Given the description of an element on the screen output the (x, y) to click on. 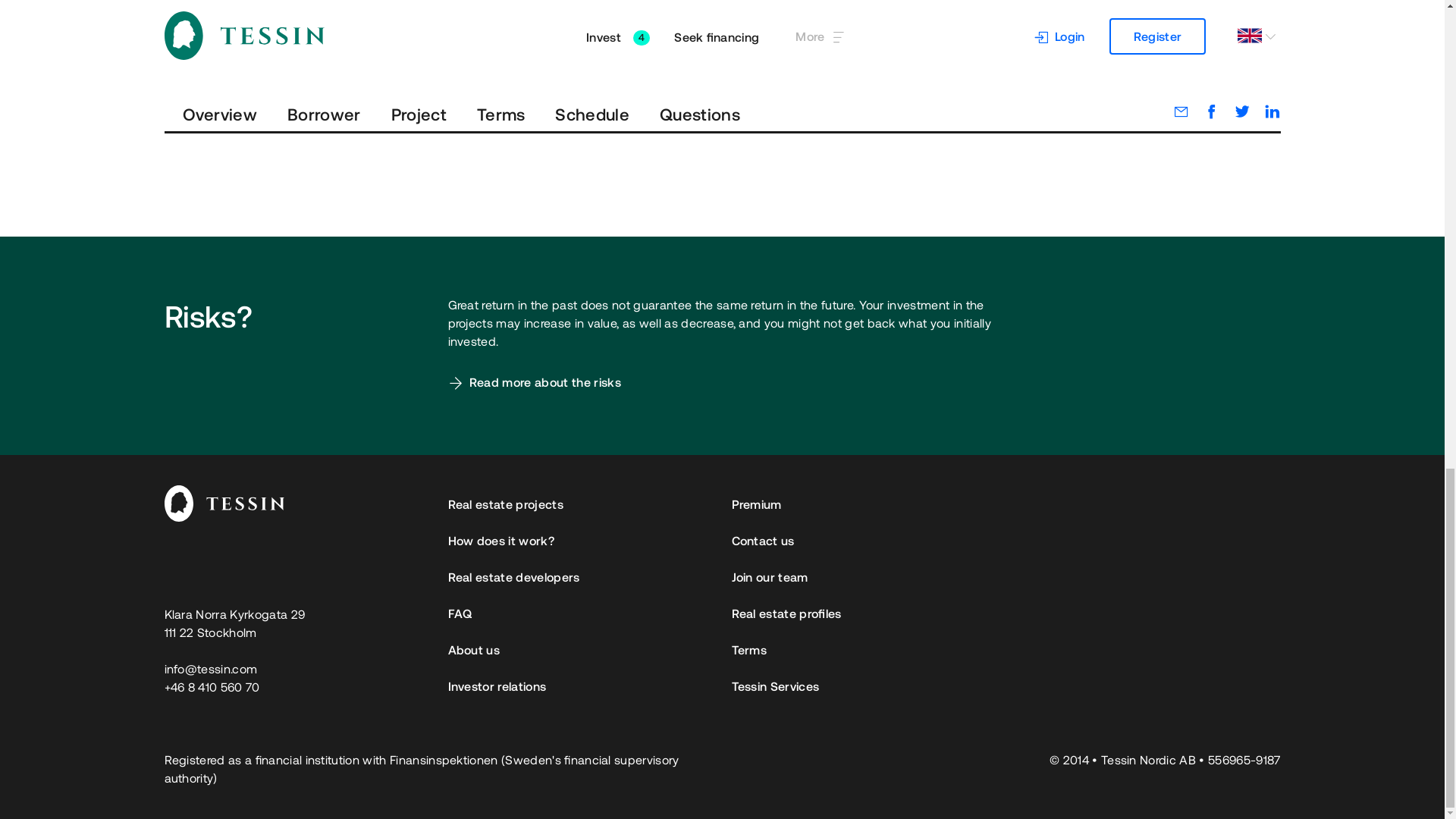
How does it work? (579, 539)
Real estate projects (579, 503)
Real estate developers (579, 575)
Premium (1004, 503)
Read more about the risks (533, 381)
Real estate profiles (1004, 612)
Contact us (1004, 539)
FAQ (579, 612)
Join our team (1004, 575)
About us (579, 648)
